Given the description of an element on the screen output the (x, y) to click on. 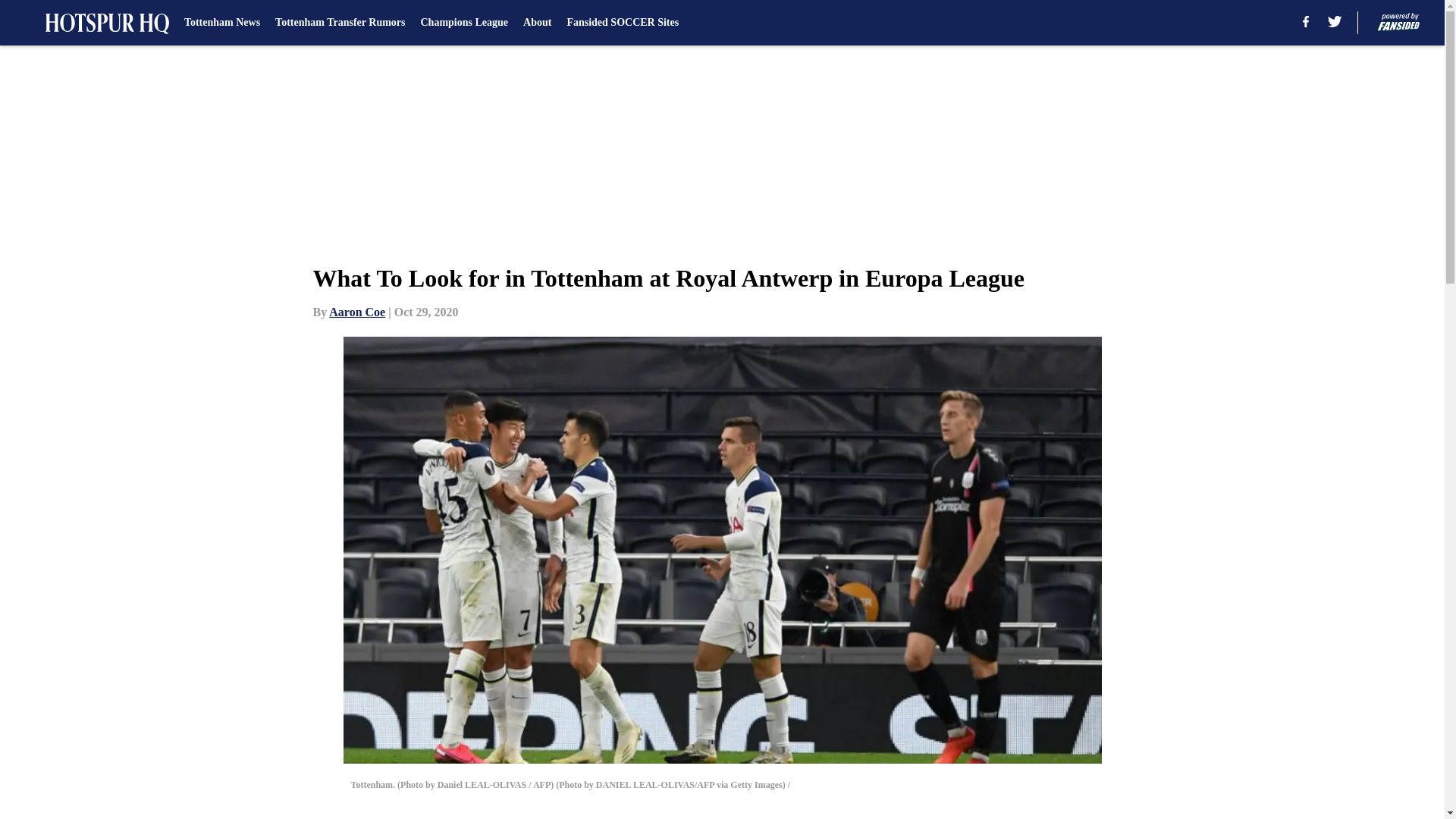
Aaron Coe (357, 311)
Tottenham Transfer Rumors (339, 22)
About (536, 22)
Fansided SOCCER Sites (622, 22)
Champions League (464, 22)
Tottenham News (222, 22)
